Given the description of an element on the screen output the (x, y) to click on. 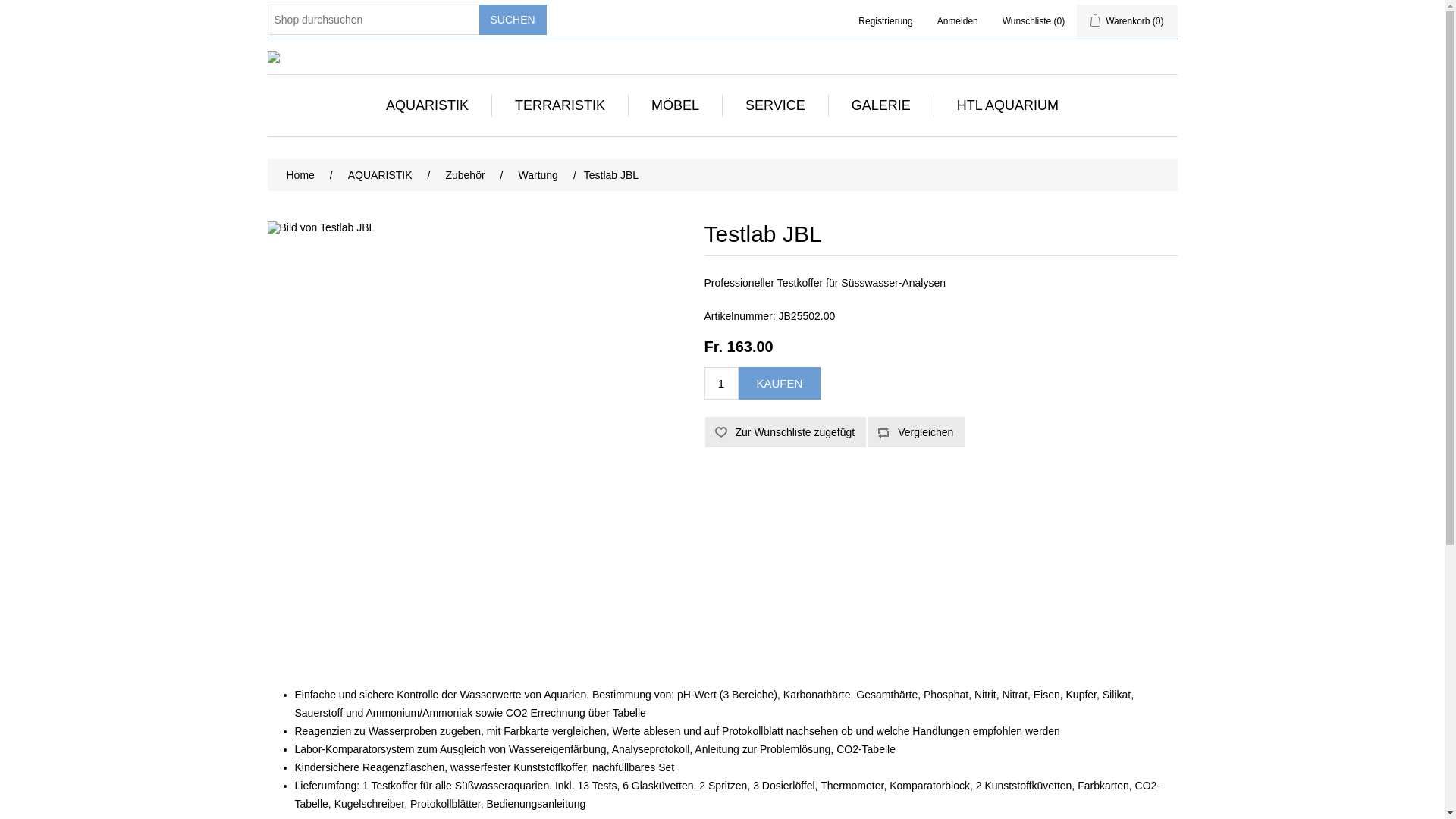
GALERIE Element type: text (881, 105)
Kaufen Element type: text (779, 383)
SERVICE Element type: text (774, 105)
Bild von Testlab JBL Element type: hover (475, 430)
AQUARISTIK Element type: text (380, 175)
Registrierung Element type: text (885, 21)
Vergleichen Element type: text (915, 432)
AQUARISTIK Element type: text (427, 105)
HTL AQUARIUM Element type: text (1007, 105)
Warenkorb (0) Element type: text (1126, 21)
TERRARISTIK Element type: text (559, 105)
Home Element type: text (299, 175)
Suchen Element type: text (512, 19)
Wunschliste (0) Element type: text (1033, 21)
Anmelden Element type: text (957, 21)
Wartung Element type: text (537, 175)
